Given the description of an element on the screen output the (x, y) to click on. 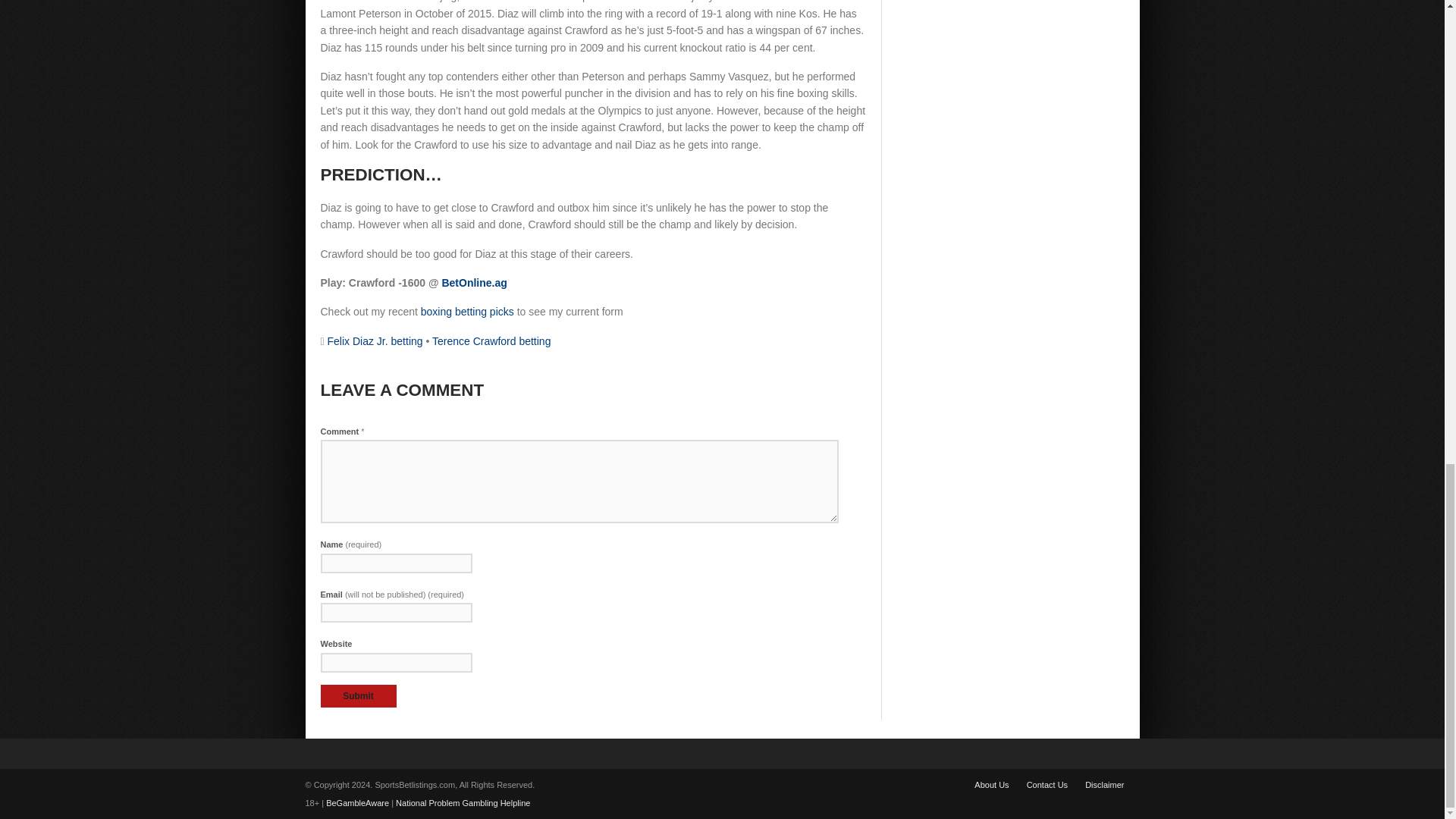
Submit (358, 695)
Submit (358, 695)
Terence Crawford betting (491, 340)
boxing betting picks (466, 311)
Felix Diaz Jr. betting (375, 340)
BetOnline.ag (473, 282)
